Given the description of an element on the screen output the (x, y) to click on. 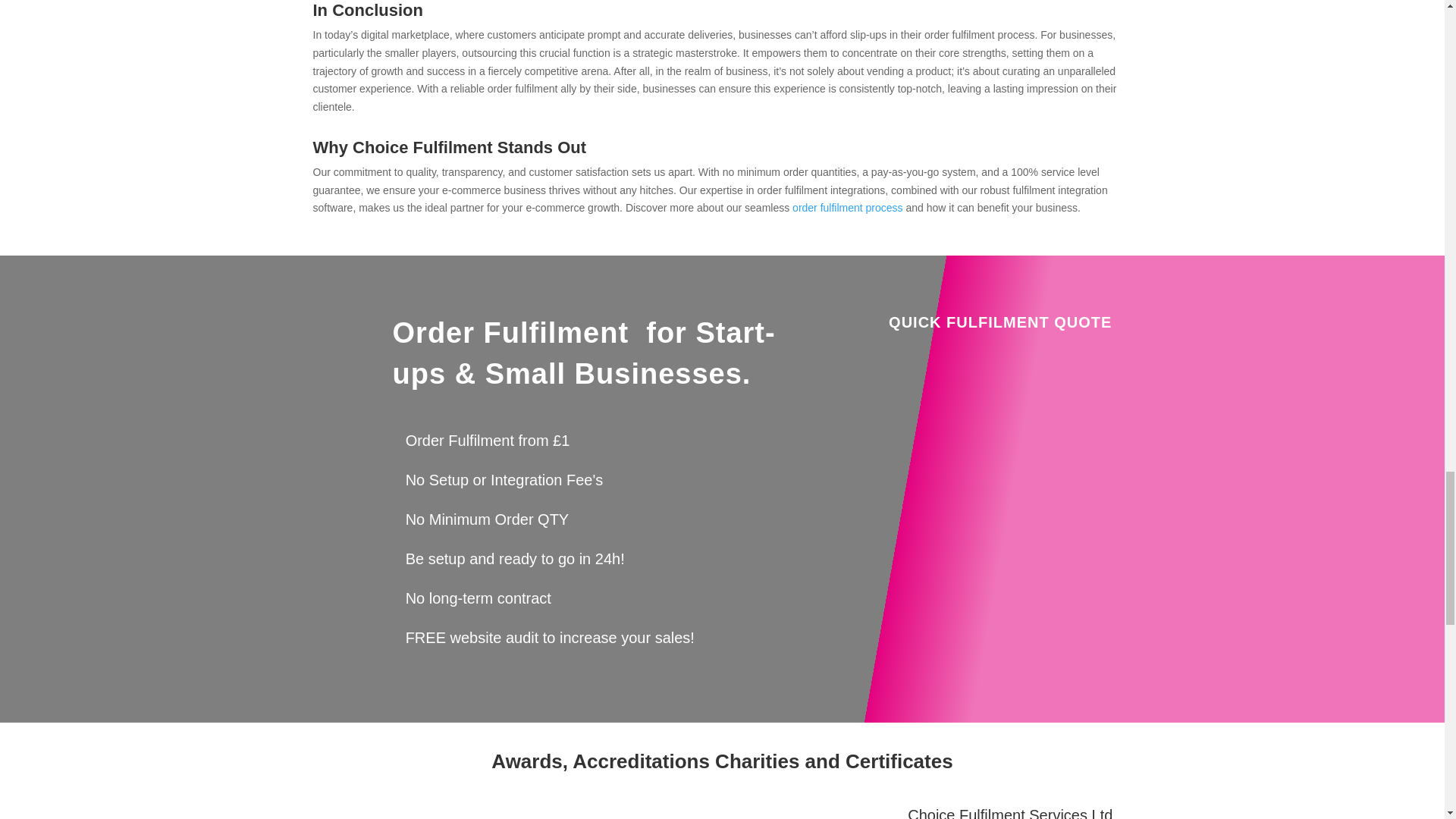
newff (433, 813)
